Given the description of an element on the screen output the (x, y) to click on. 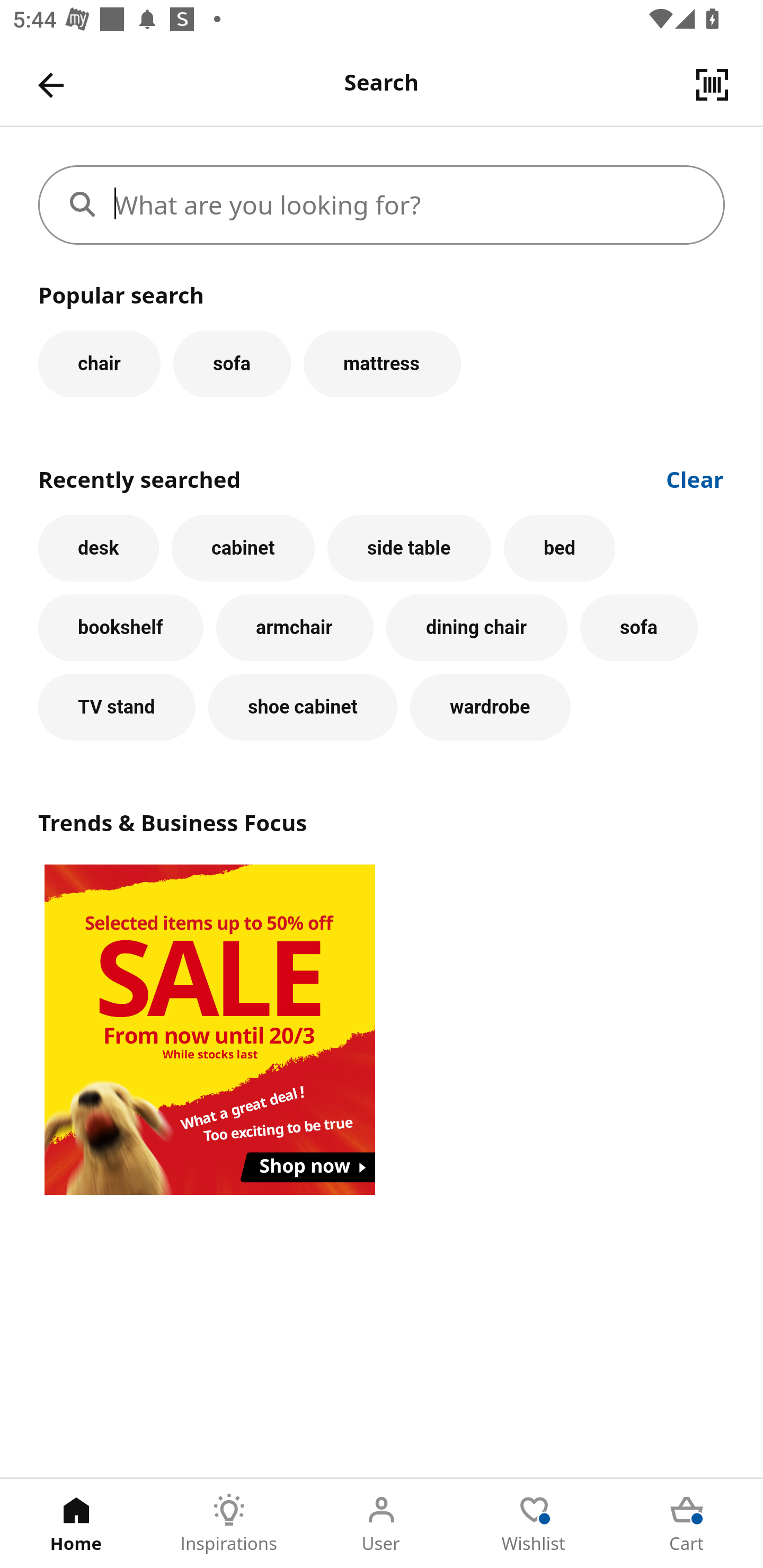
chair (99, 363)
sofa (231, 363)
mattress (381, 363)
Clear (695, 477)
desk (98, 547)
cabinet (242, 547)
side table (409, 547)
bed (558, 547)
bookshelf (120, 627)
armchair (294, 627)
dining chair (476, 627)
sofa (638, 627)
TV stand (116, 707)
shoe cabinet (302, 707)
wardrobe (490, 707)
Home
Tab 1 of 5 (76, 1522)
Inspirations
Tab 2 of 5 (228, 1522)
User
Tab 3 of 5 (381, 1522)
Wishlist
Tab 4 of 5 (533, 1522)
Cart
Tab 5 of 5 (686, 1522)
